Given the description of an element on the screen output the (x, y) to click on. 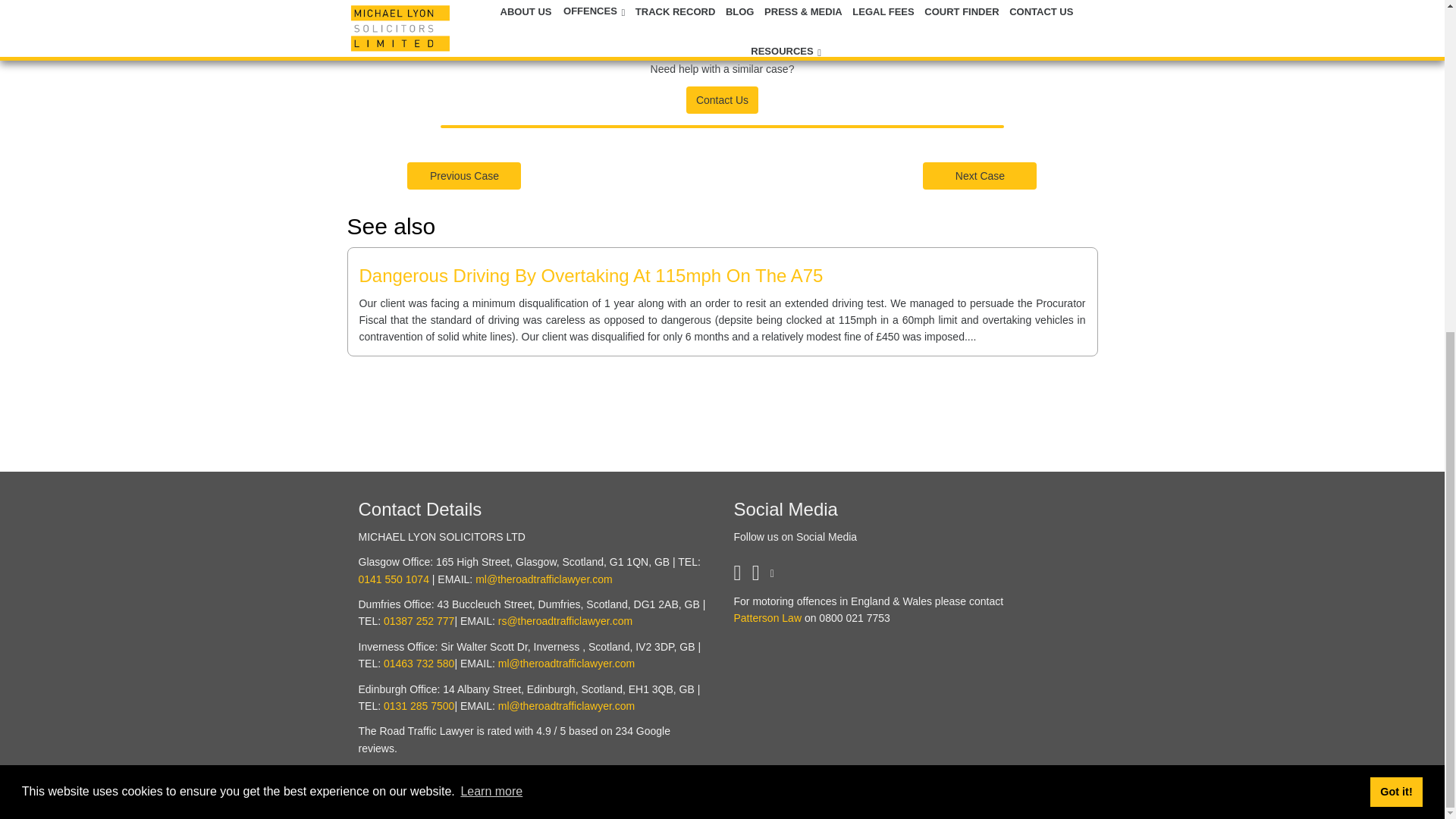
Next Case (979, 175)
Next Case (979, 174)
Got it! (1396, 237)
Learn more (491, 237)
Dangerous Driving By Overtaking At 115mph On The A75 (591, 275)
Contact Us (721, 98)
Previous Case (464, 174)
Previous Case (464, 175)
